Given the description of an element on the screen output the (x, y) to click on. 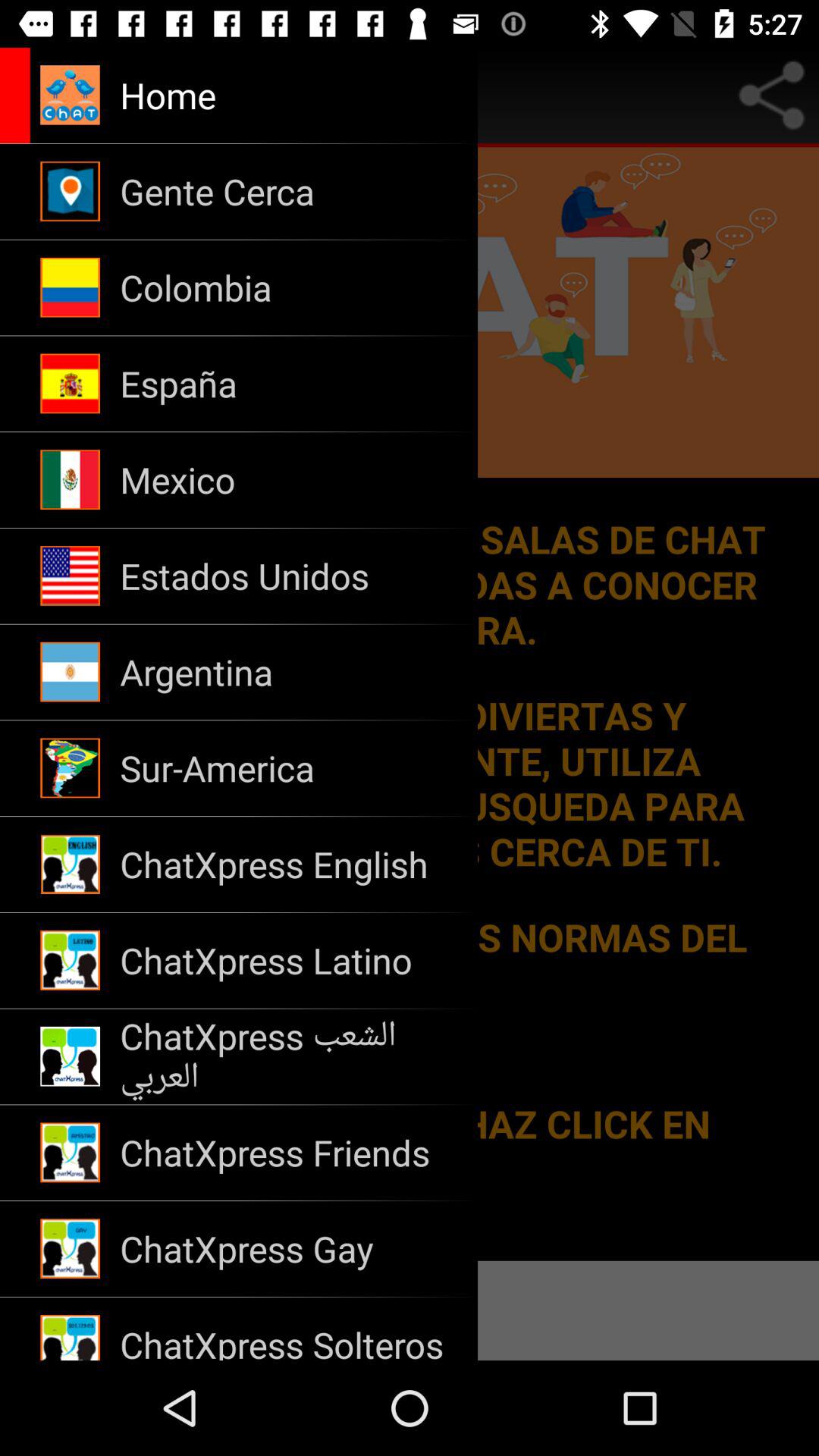
swipe to the chatxpress friends icon (288, 1152)
